Given the description of an element on the screen output the (x, y) to click on. 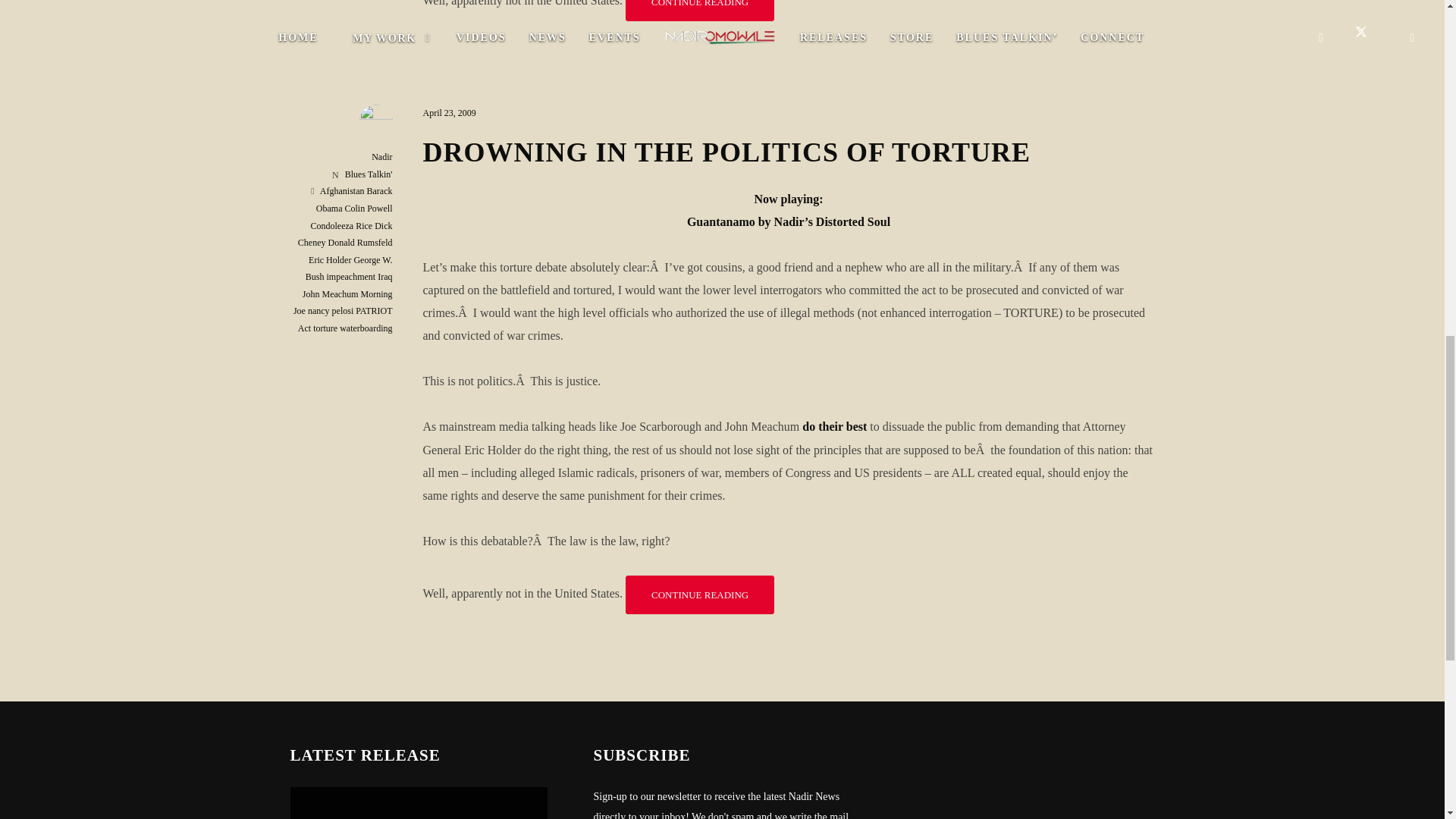
View all posts by Nadir (381, 156)
Back to the top (1412, 117)
